Given the description of an element on the screen output the (x, y) to click on. 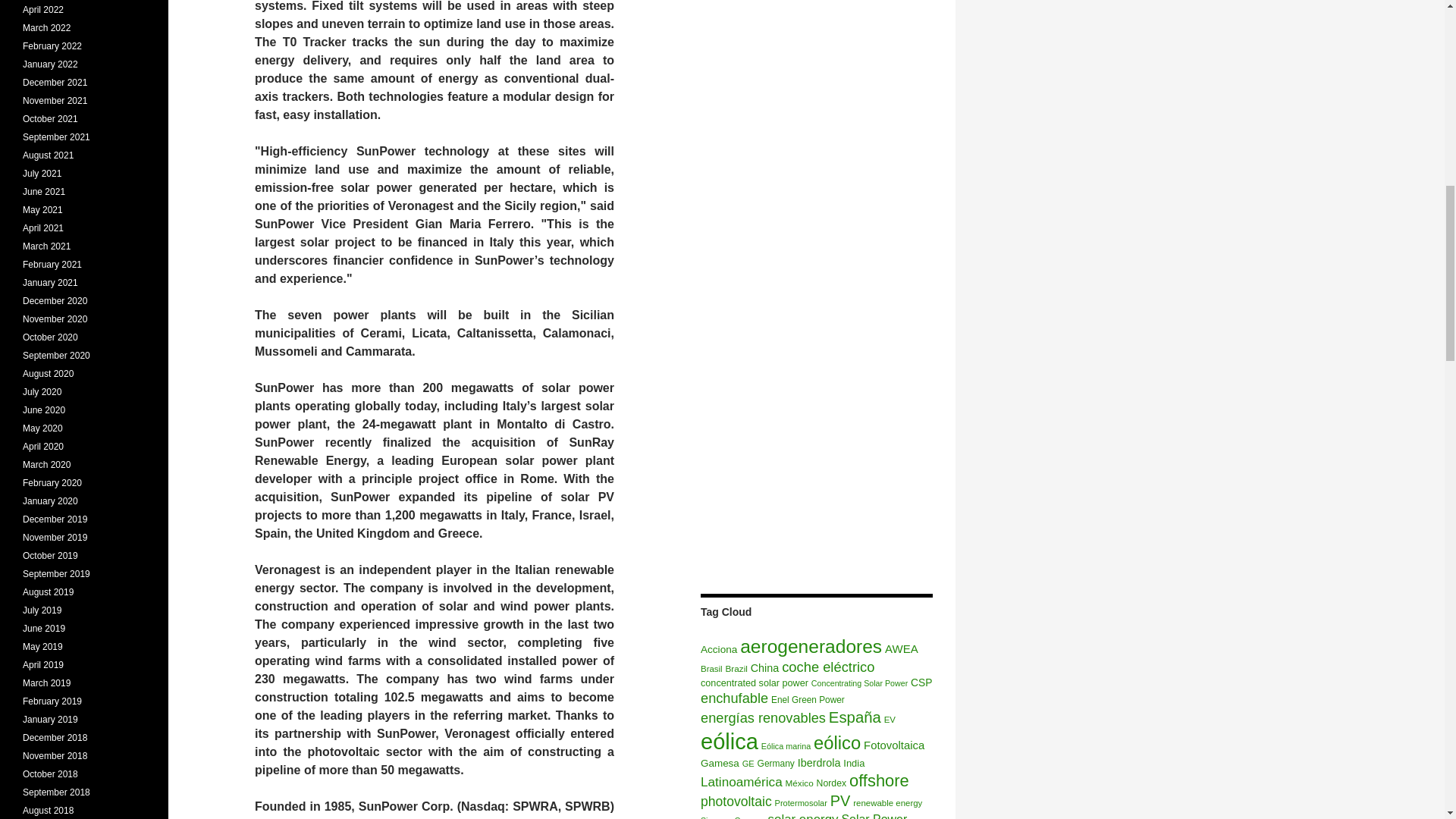
Acciona (718, 649)
Enel Green Power (807, 699)
AWEA (901, 648)
China (764, 667)
aerogeneradores (810, 646)
CSP (921, 682)
Brazil (736, 668)
concentrated solar power (754, 683)
Concentrating Solar Power (858, 682)
enchufable (734, 698)
Brasil (711, 668)
